Given the description of an element on the screen output the (x, y) to click on. 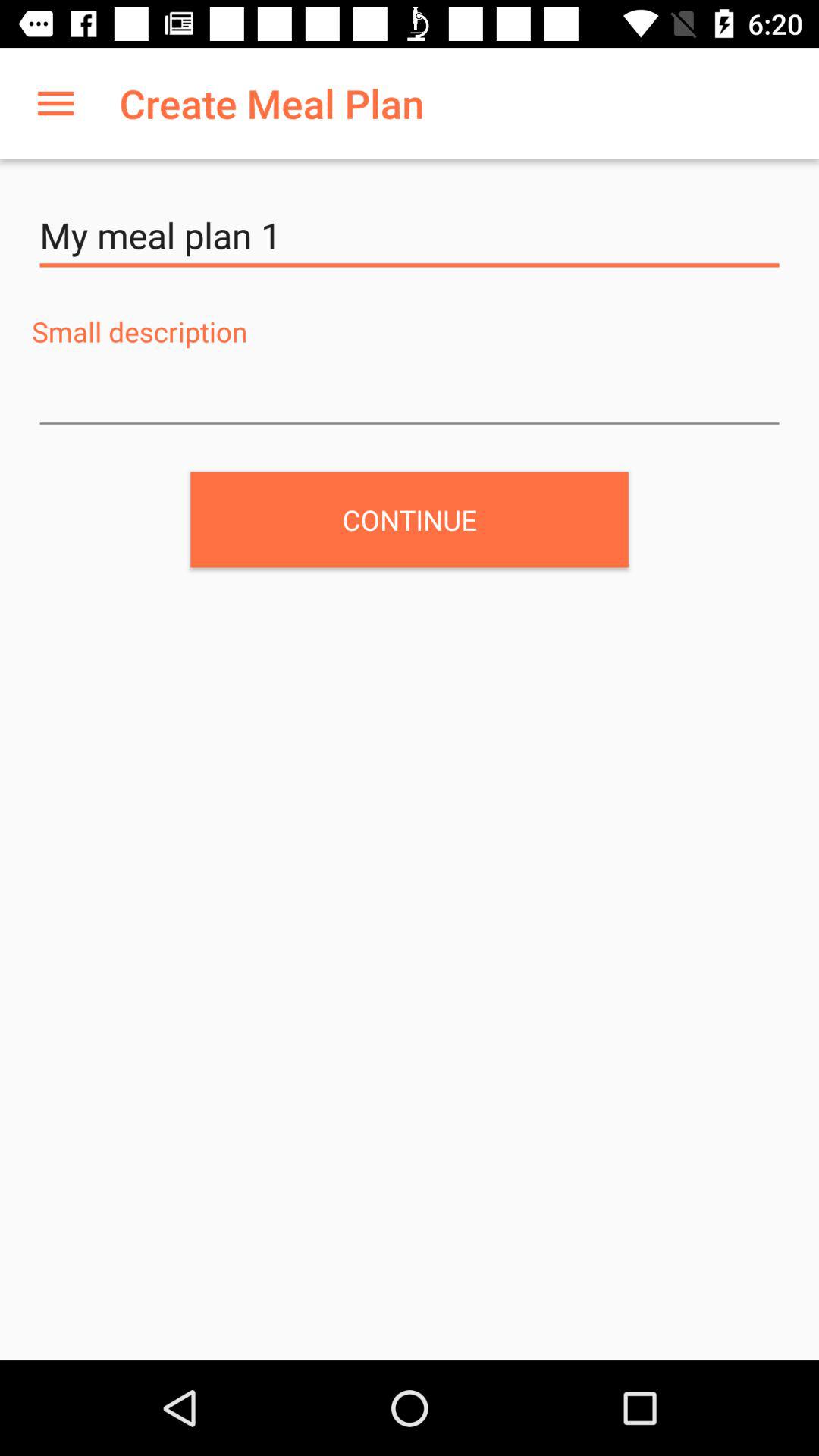
open the continue (409, 519)
